Given the description of an element on the screen output the (x, y) to click on. 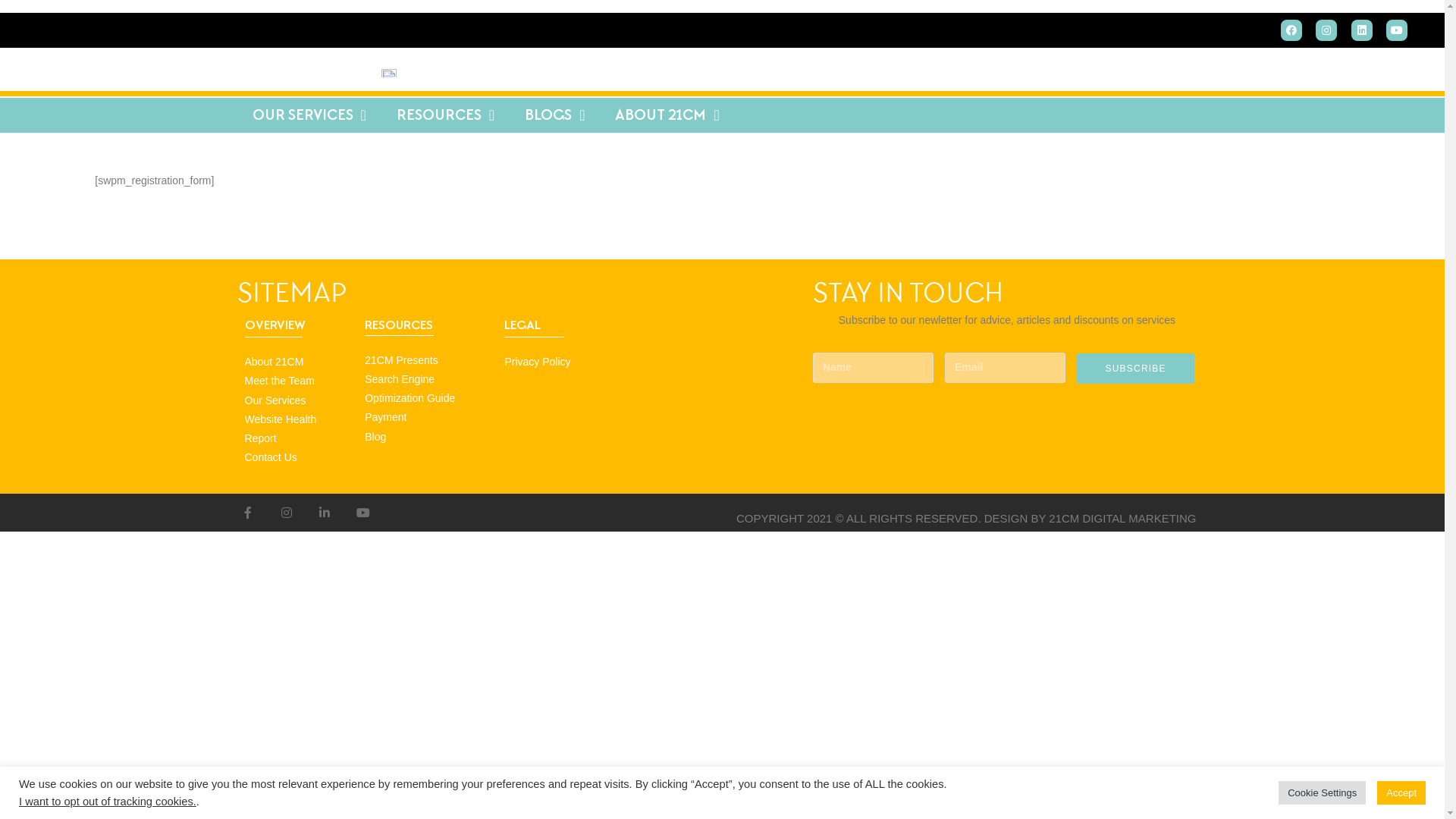
About 21CM Element type: text (296, 361)
OUR SERVICES Element type: text (308, 114)
Subscribe Element type: text (1135, 368)
Meet the Team Element type: text (296, 380)
Cookie Settings Element type: text (1321, 792)
Blog Element type: text (426, 436)
Privacy Policy Element type: text (558, 361)
Website Health Report Element type: text (296, 429)
ABOUT 21CM Element type: text (666, 114)
Search Engine Optimization Guide Element type: text (426, 388)
RESOURCES Element type: text (445, 114)
Contact Us Element type: text (296, 457)
Payment Element type: text (426, 416)
Accept Element type: text (1401, 792)
21CM Presents Element type: text (426, 360)
BLOGS Element type: text (554, 114)
Our Services Element type: text (296, 400)
I want to opt out of tracking cookies. Element type: text (107, 801)
